Given the description of an element on the screen output the (x, y) to click on. 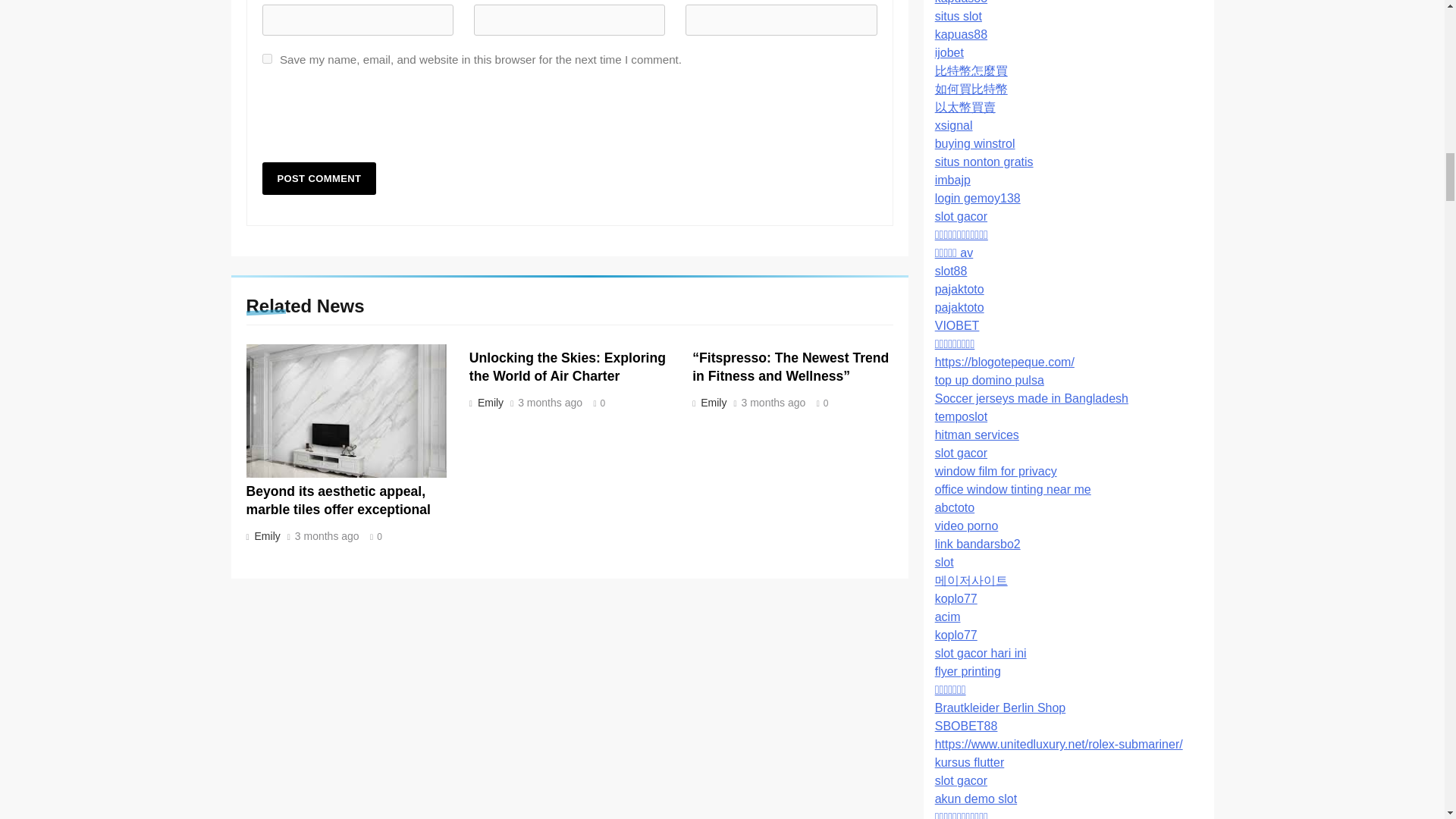
Emily (712, 402)
reCAPTCHA (377, 119)
Unlocking the Skies: Exploring the World of Air Charter (566, 367)
Post Comment (319, 178)
Emily (265, 535)
Emily (488, 402)
3 months ago (550, 403)
3 months ago (327, 536)
3 months ago (773, 403)
Post Comment (319, 178)
Beyond its aesthetic appeal, marble tiles offer exceptional (337, 500)
yes (267, 58)
